Given the description of an element on the screen output the (x, y) to click on. 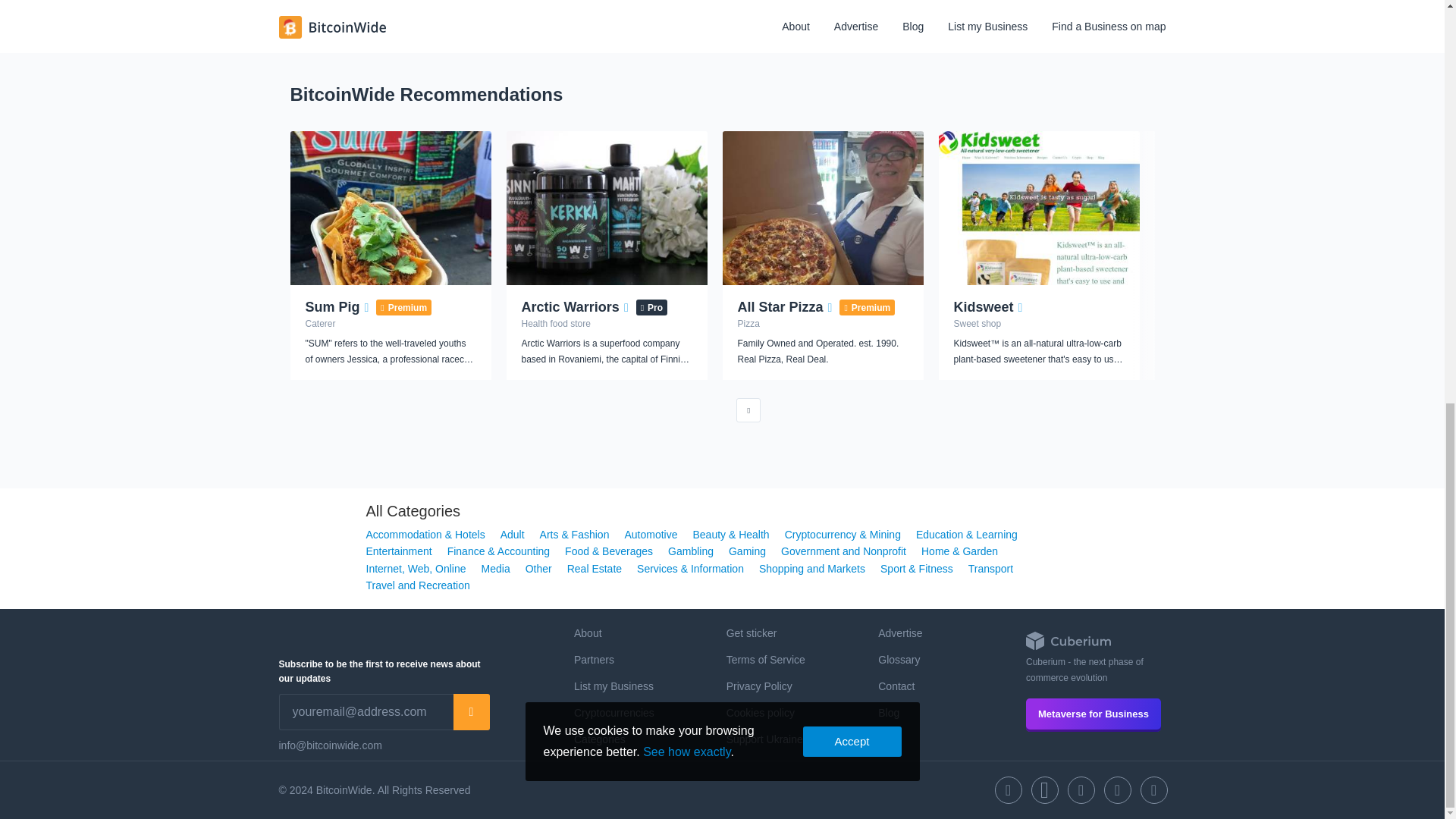
Entertainment (397, 551)
Automotive (650, 534)
Adult (512, 534)
Gambling (690, 551)
